Given the description of an element on the screen output the (x, y) to click on. 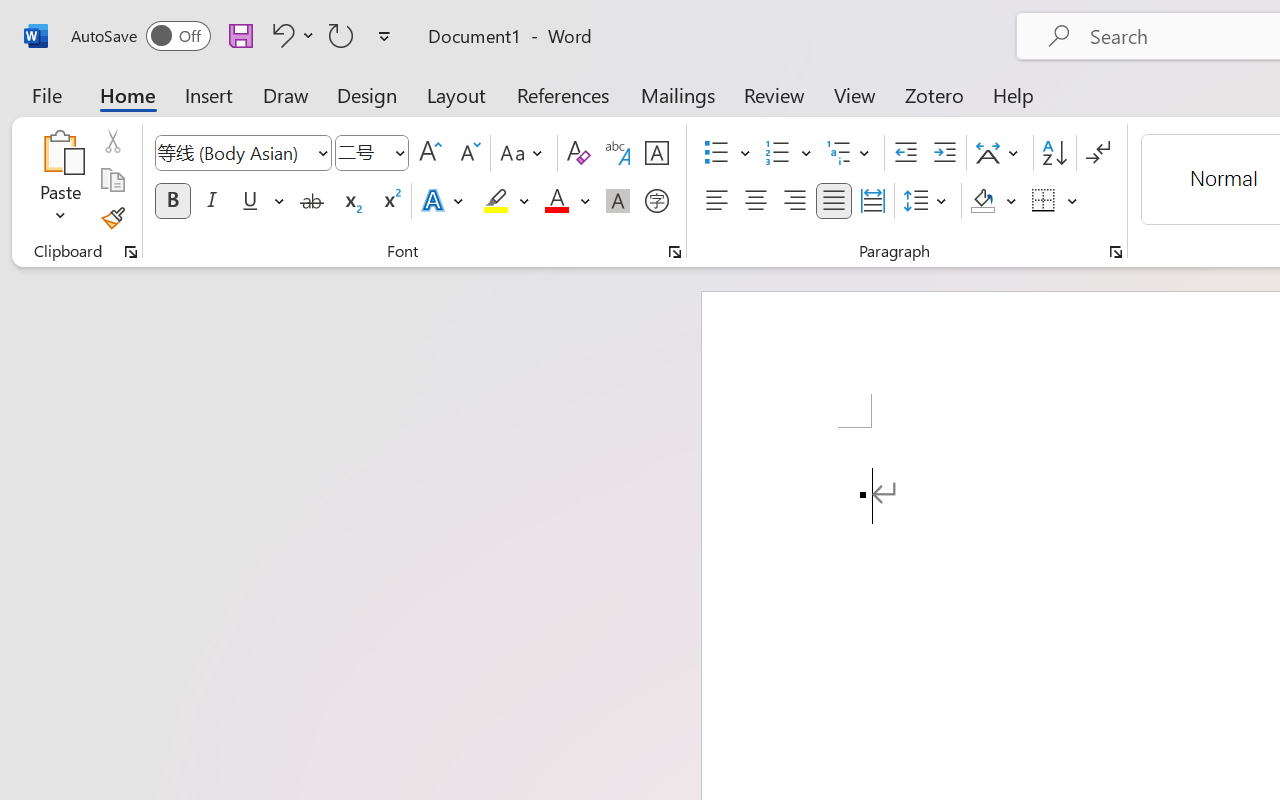
Undo Apply Quick Style (280, 35)
